Given the description of an element on the screen output the (x, y) to click on. 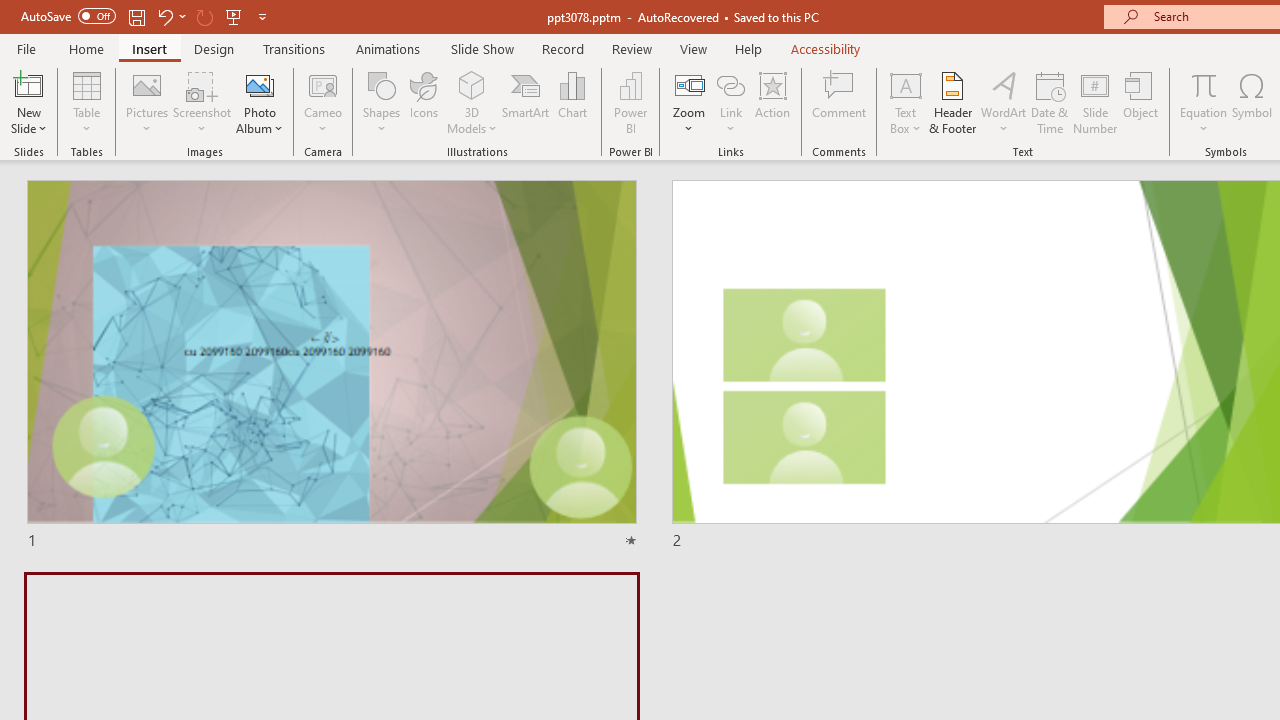
View (693, 48)
Accessibility (825, 48)
WordArt (1004, 102)
Link (731, 102)
Review (631, 48)
Date & Time... (1050, 102)
Cameo (323, 102)
Photo Album... (259, 102)
Symbol... (1252, 102)
New Slide (28, 102)
Cameo (323, 84)
Action (772, 102)
